Given the description of an element on the screen output the (x, y) to click on. 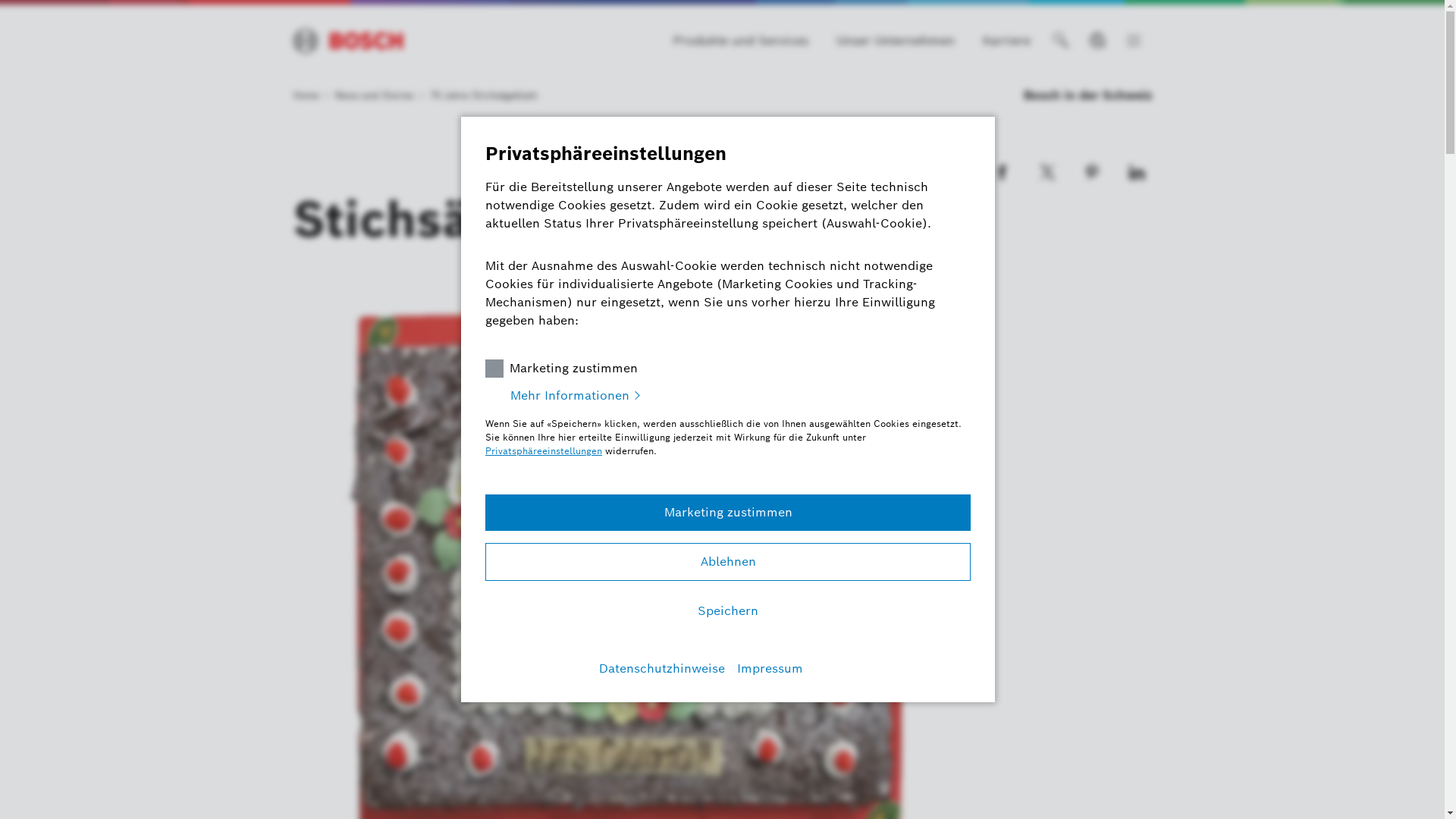
News and Stories Element type: text (379, 95)
Unser Unternehmen Element type: text (894, 40)
Home Element type: text (310, 95)
Suche Element type: hover (1059, 40)
Karriere Element type: text (1006, 40)
Produkte und Services Element type: text (740, 40)
